Given the description of an element on the screen output the (x, y) to click on. 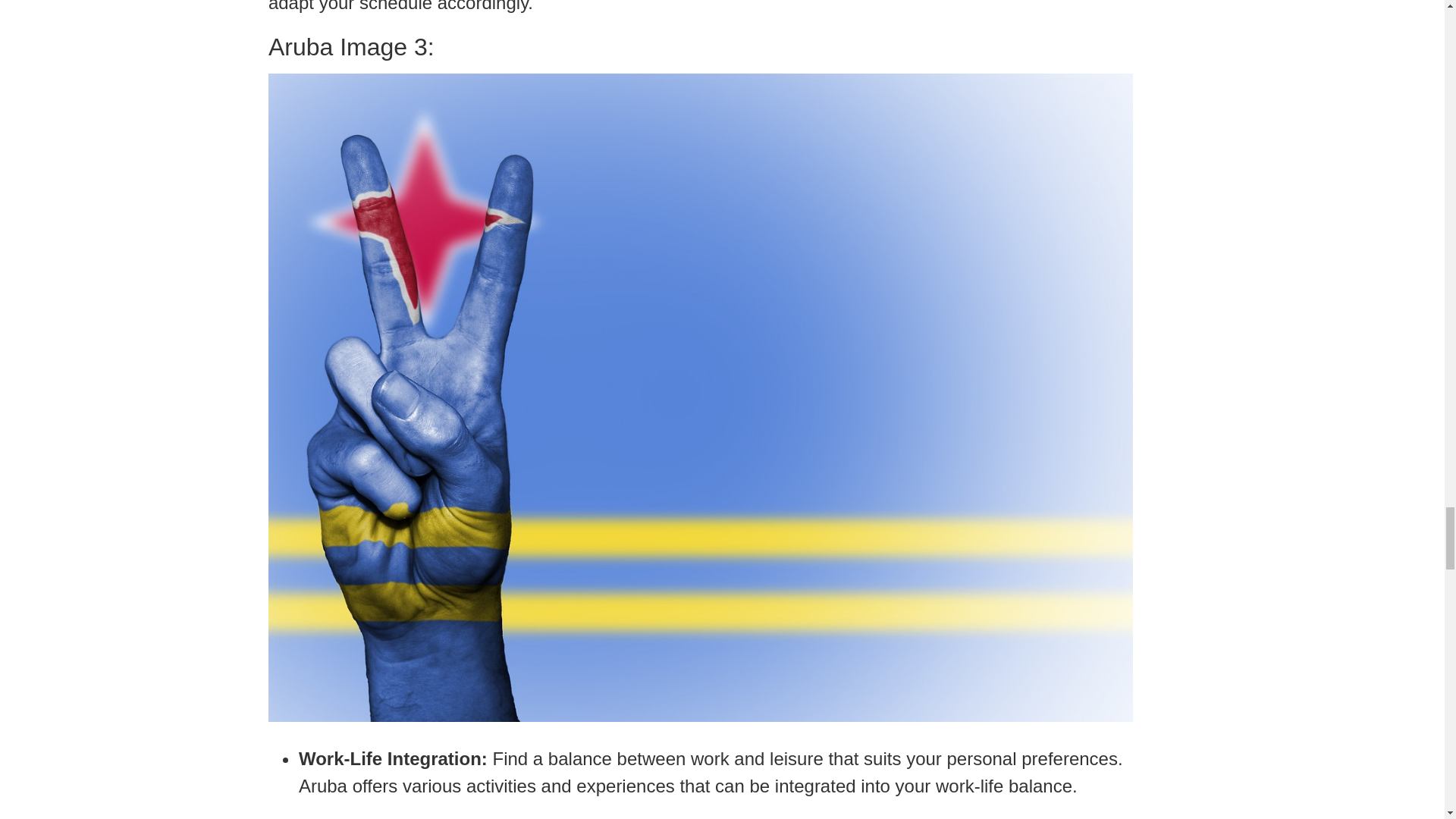
Aruba Image 3: (699, 46)
